Given the description of an element on the screen output the (x, y) to click on. 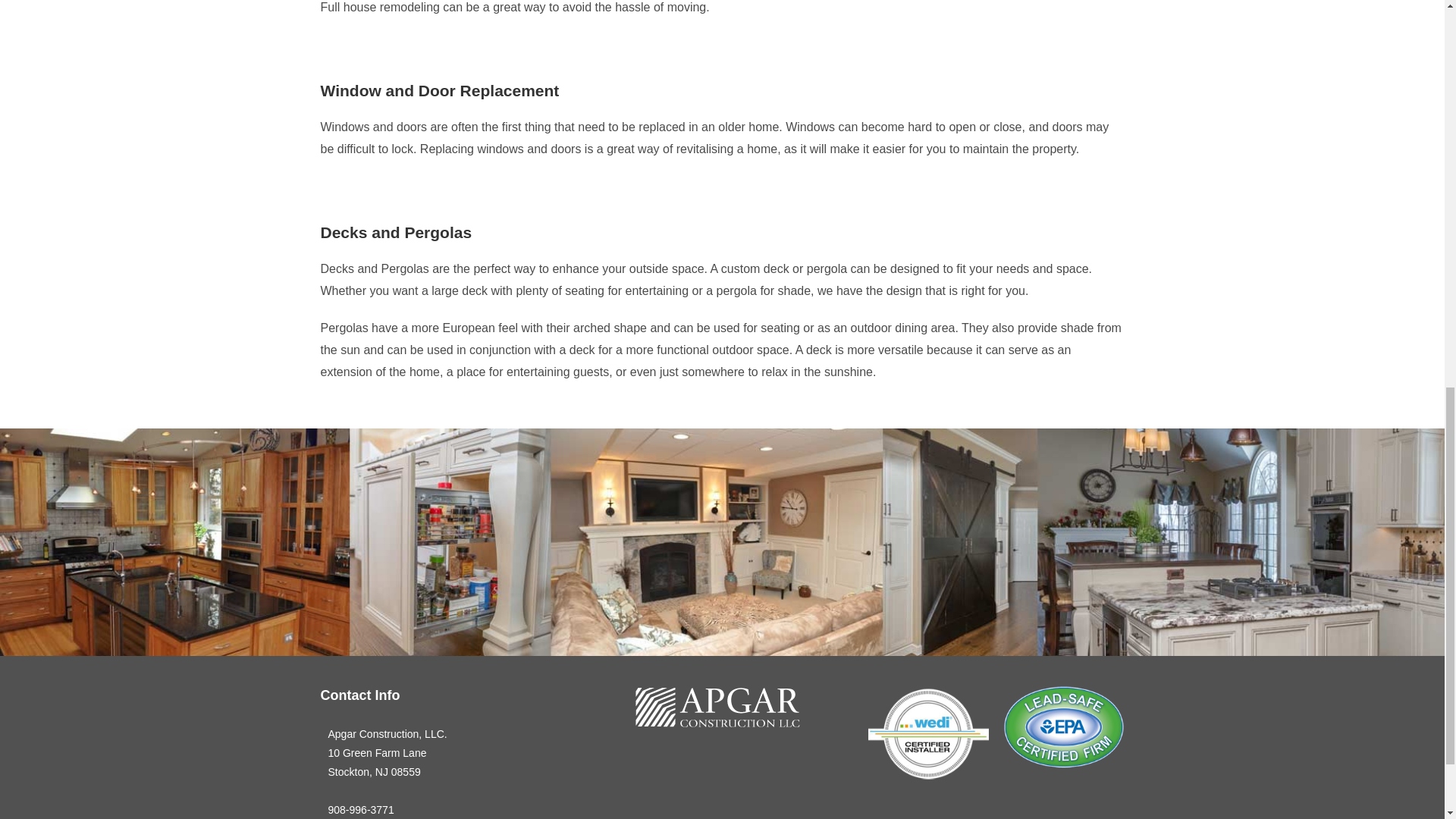
lead-safe-150 (1064, 727)
white-logo (717, 707)
wedi-service-badge-150 (927, 734)
